Given the description of an element on the screen output the (x, y) to click on. 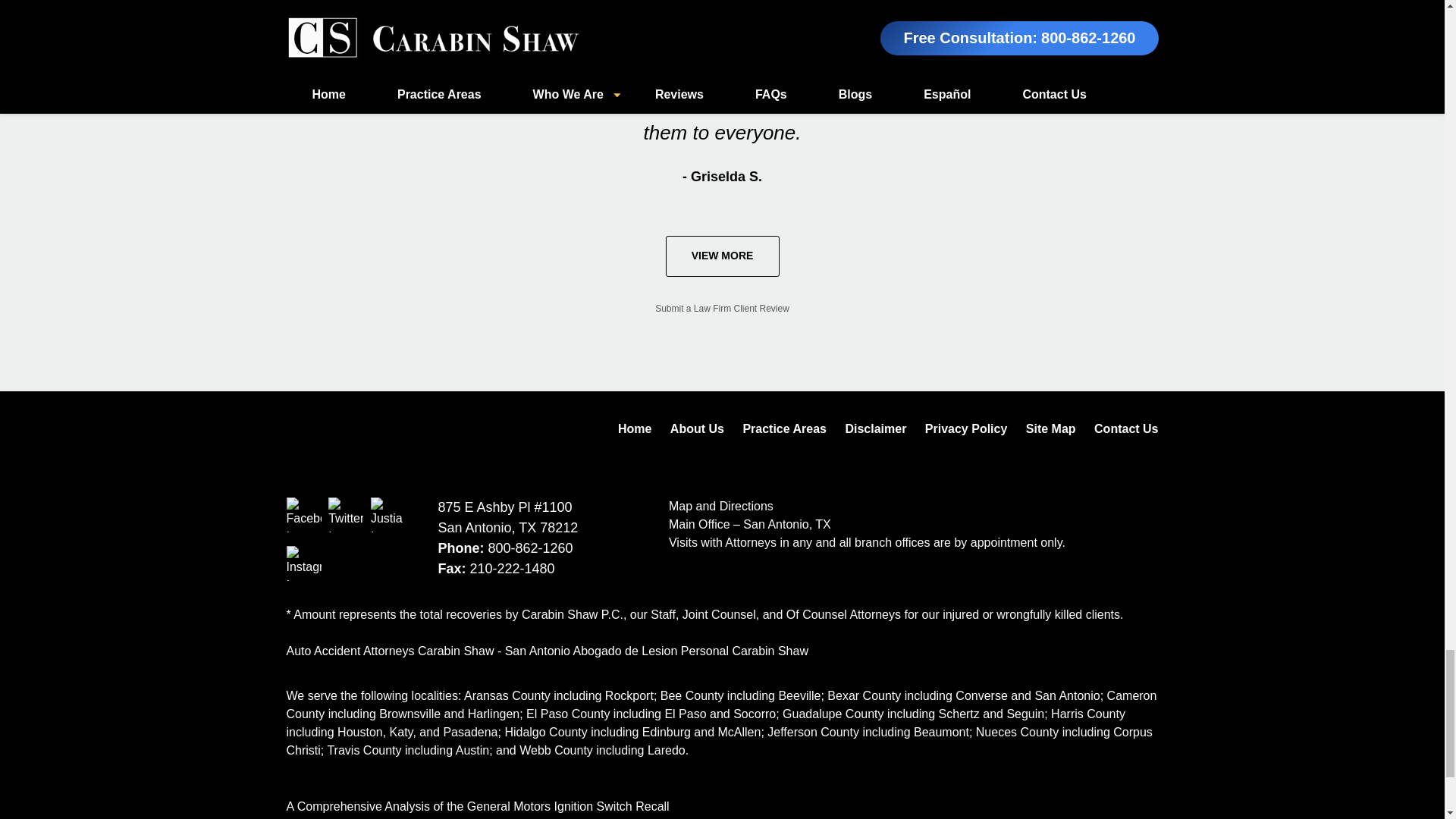
Facebook (303, 514)
Justia (388, 514)
Twitter (345, 514)
Instagram (303, 563)
